Given the description of an element on the screen output the (x, y) to click on. 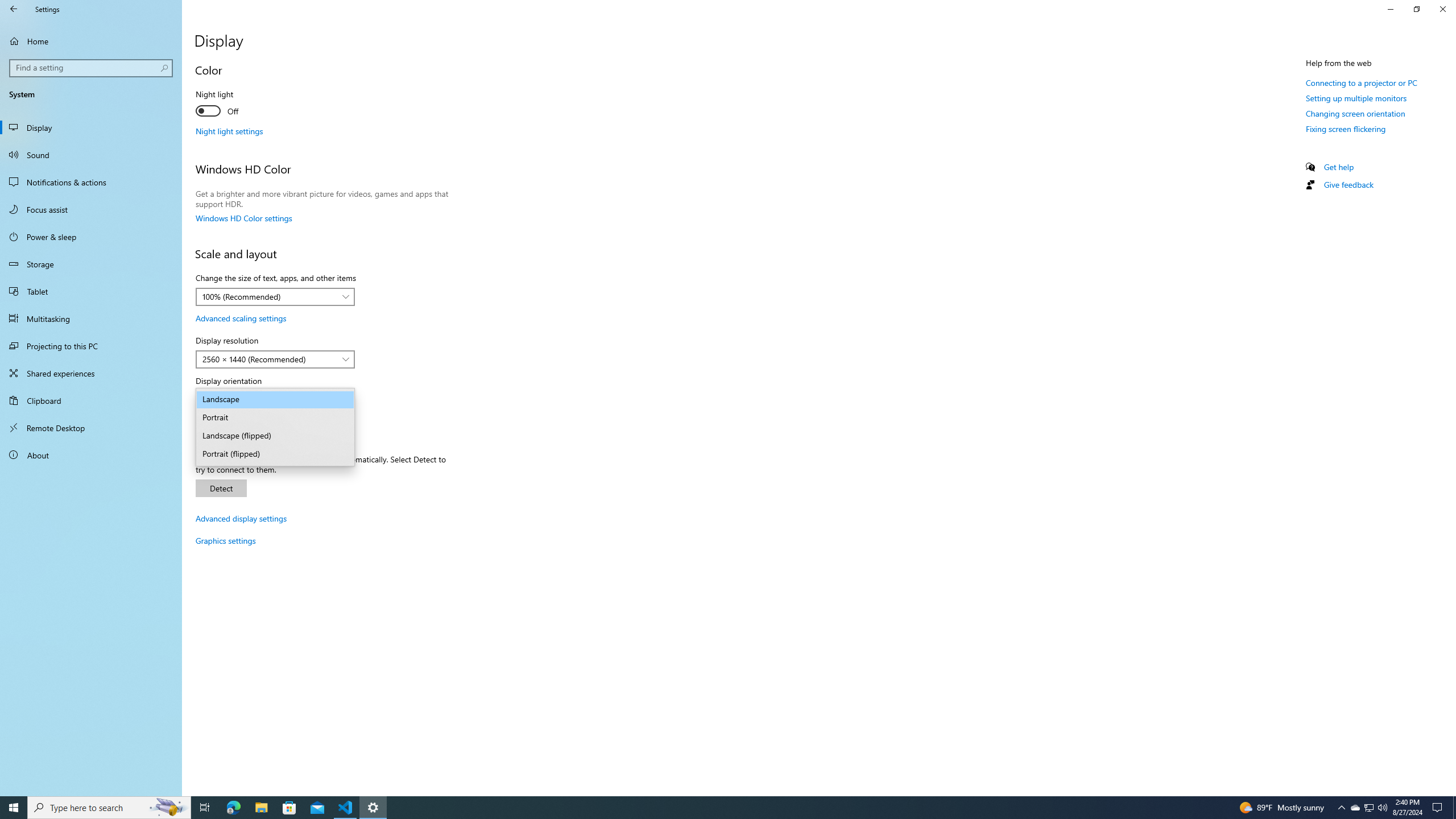
File Explorer (261, 807)
